Given the description of an element on the screen output the (x, y) to click on. 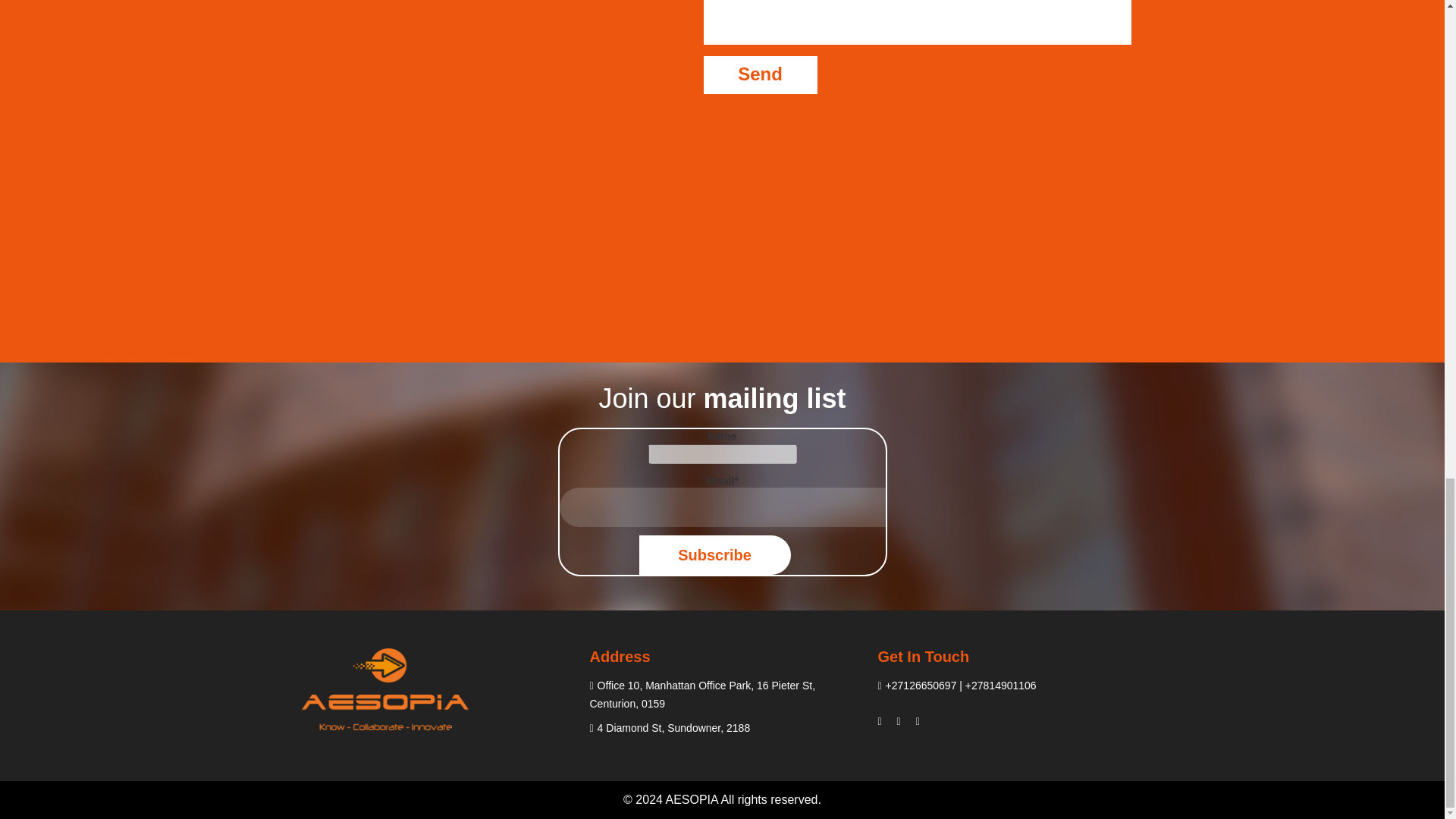
Subscribe (714, 554)
Send (759, 75)
Send (759, 75)
Subscribe (714, 554)
